Given the description of an element on the screen output the (x, y) to click on. 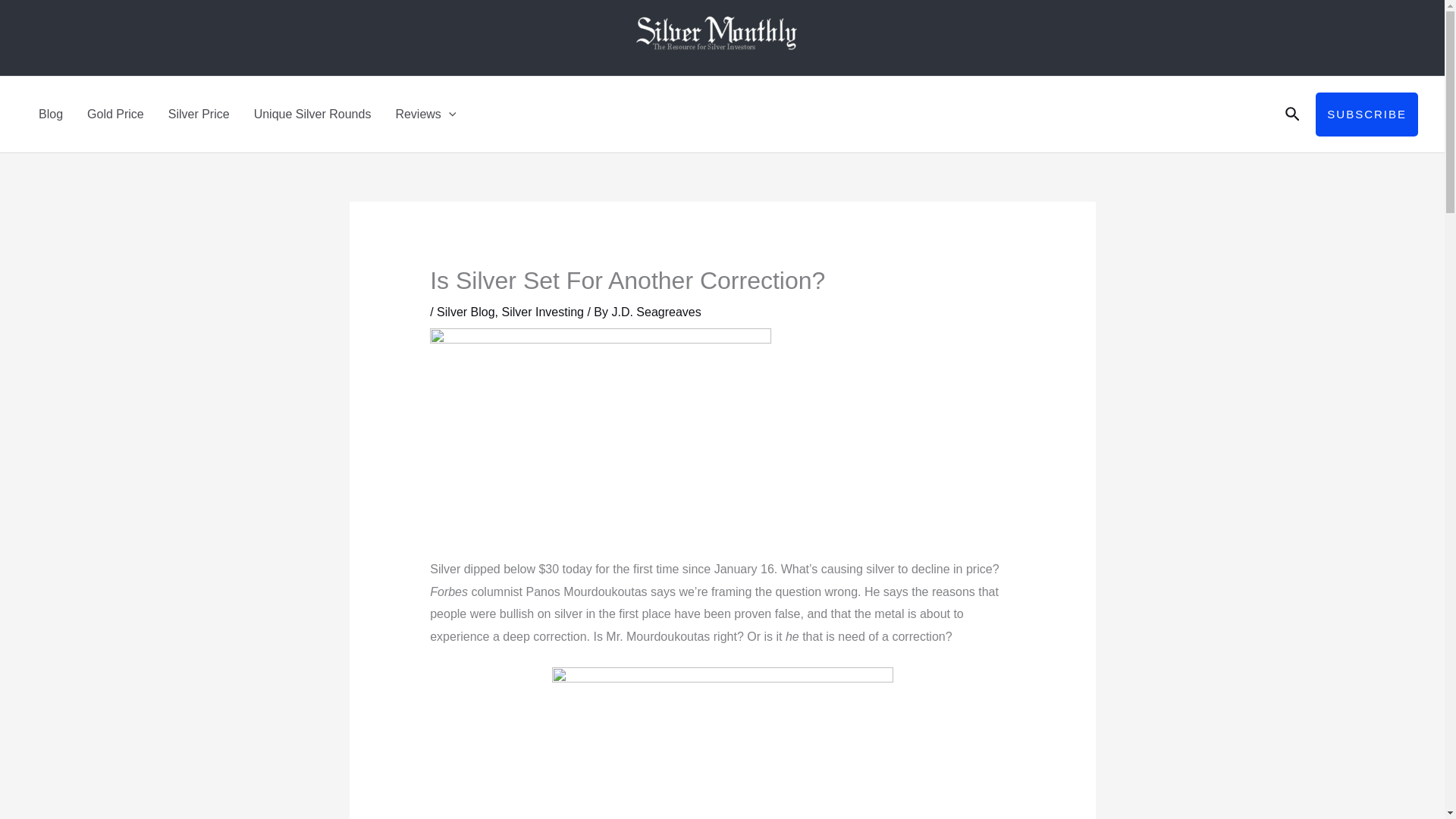
Reviews (424, 114)
Silver Price (198, 114)
SUBSCRIBE (1367, 114)
Gold Price (115, 114)
Silver Blog (465, 311)
J.D. Seagreaves (655, 311)
Silver Investing (541, 311)
View all posts by J.D. Seagreaves (655, 311)
Unique Silver Rounds (312, 114)
